Given the description of an element on the screen output the (x, y) to click on. 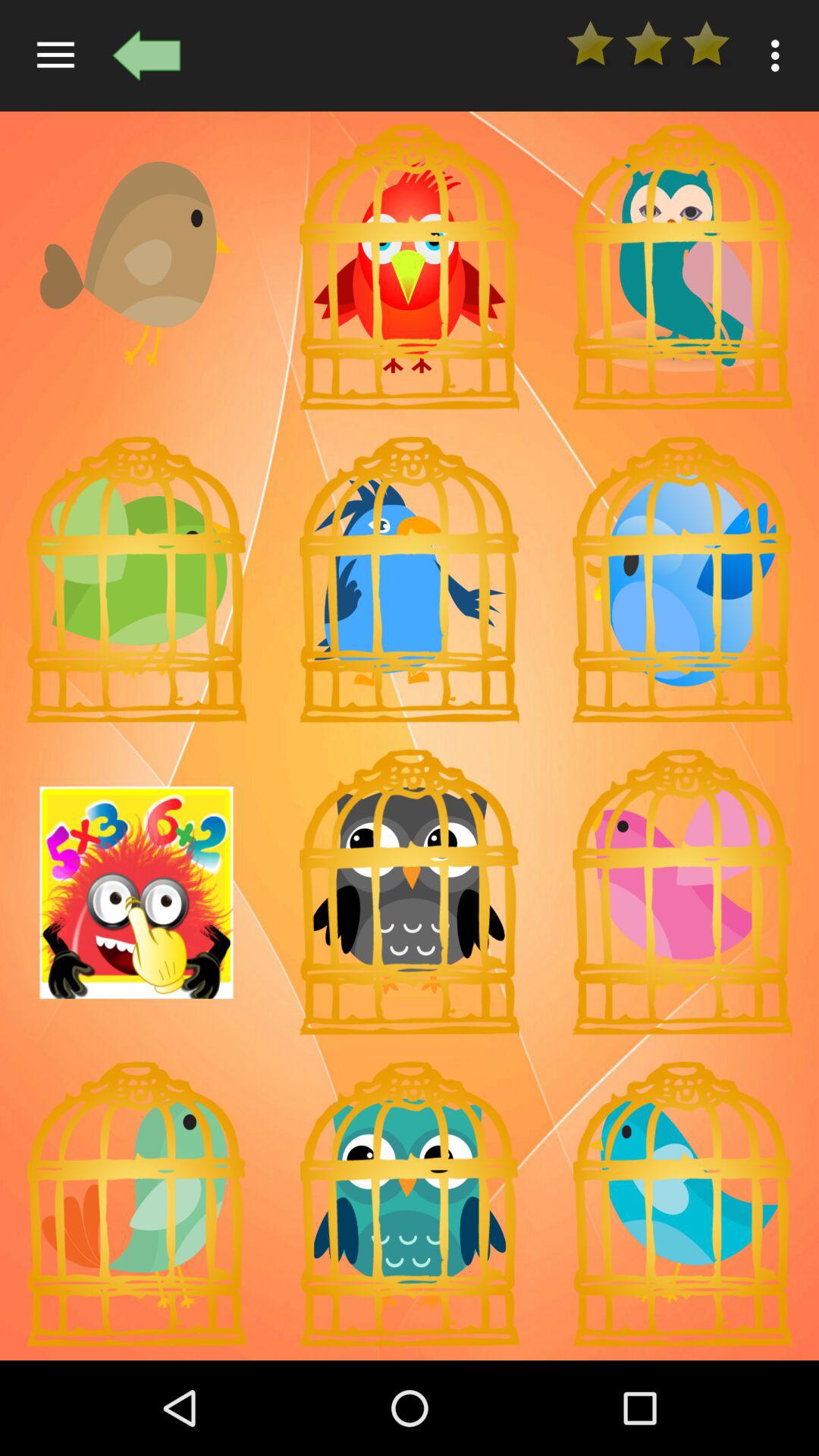
selective picture icon (409, 579)
